Given the description of an element on the screen output the (x, y) to click on. 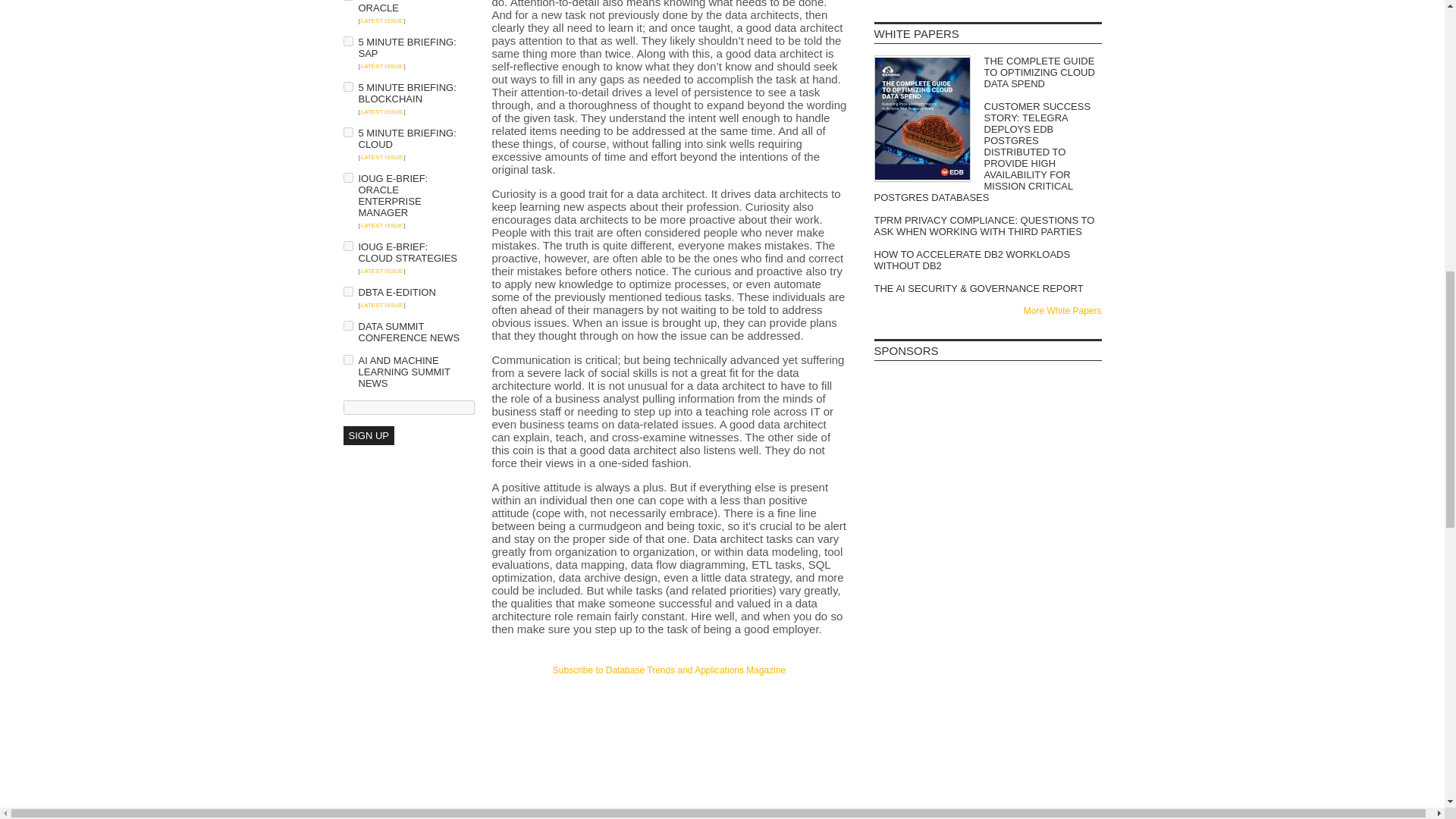
How to Accelerate DB2 Workloads Without DB2 (986, 259)
on (347, 245)
3rd party ad content (986, 409)
on (347, 132)
on (347, 291)
on (347, 359)
3rd party ad content (668, 705)
3rd party ad content (986, 591)
on (347, 40)
Sign Up (367, 435)
3rd party ad content (986, 500)
on (347, 86)
